Given the description of an element on the screen output the (x, y) to click on. 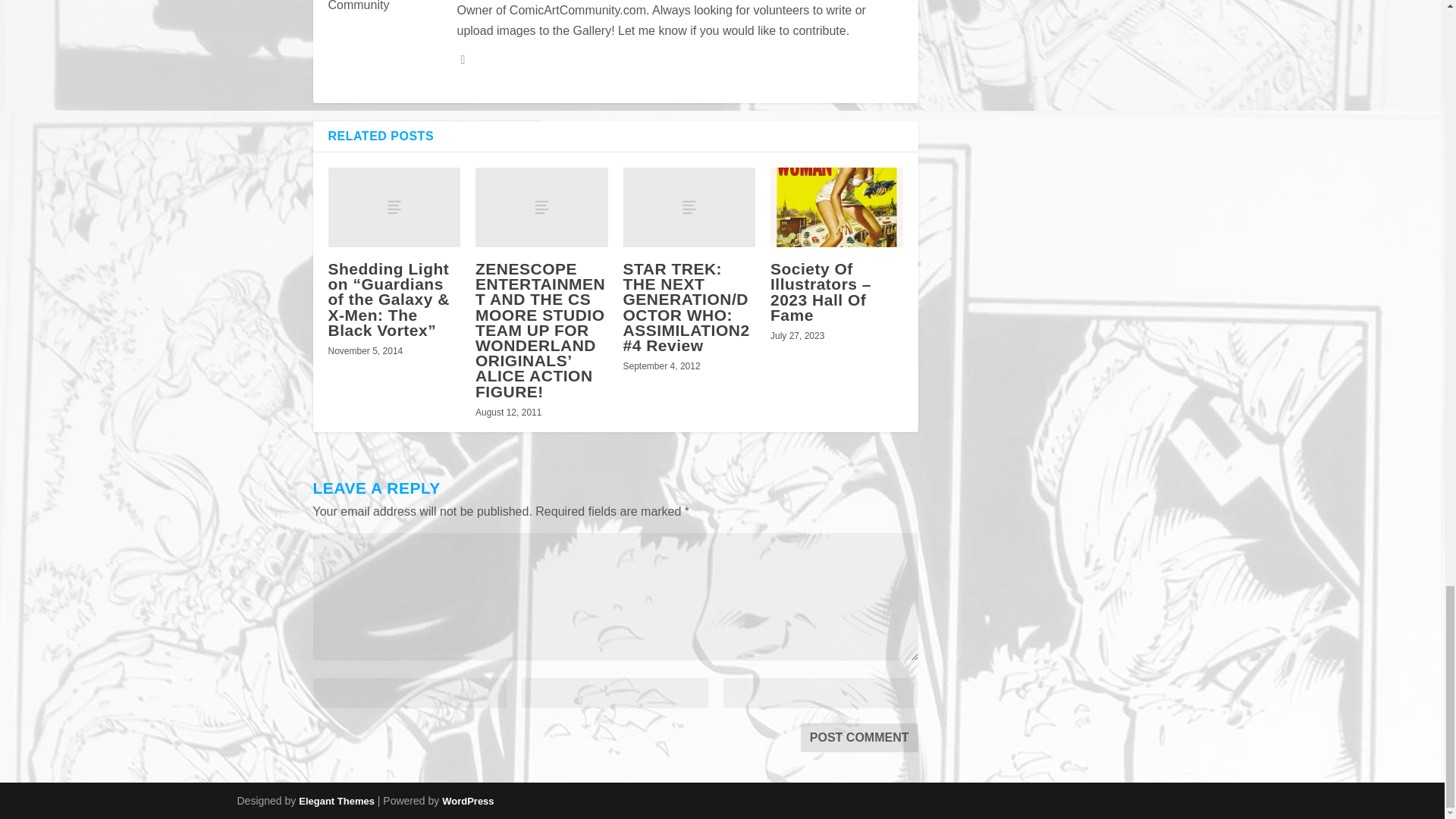
Post Comment (859, 737)
